Given the description of an element on the screen output the (x, y) to click on. 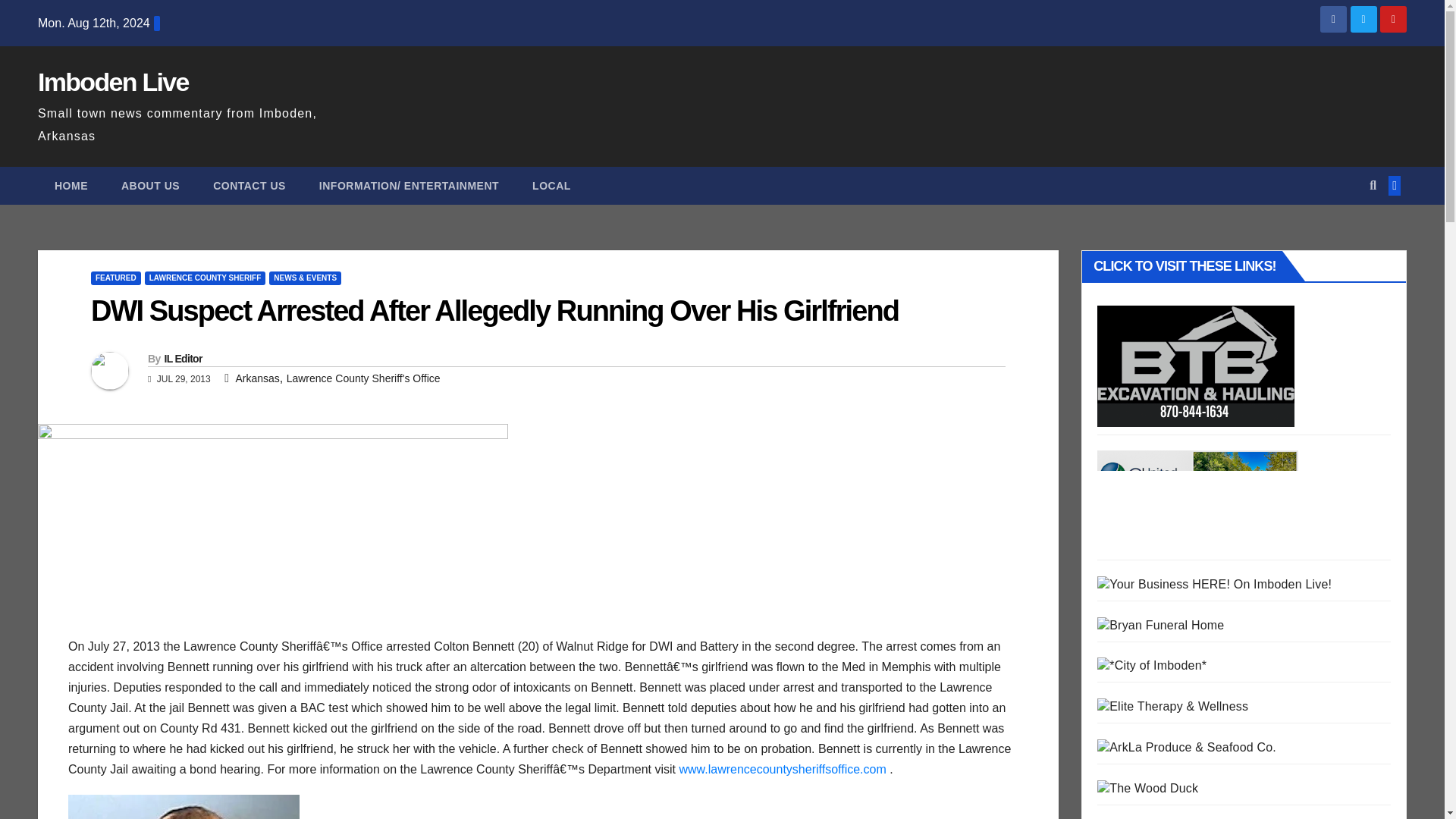
official city of imboden arkansas website (1152, 665)
CONTACT US (249, 185)
advertise local! (1214, 584)
HOME (70, 185)
ABOUT US (150, 185)
official city of imboden arkansas website (1152, 665)
Imboden Live (113, 81)
LOCAL (551, 185)
Home (70, 185)
